Given the description of an element on the screen output the (x, y) to click on. 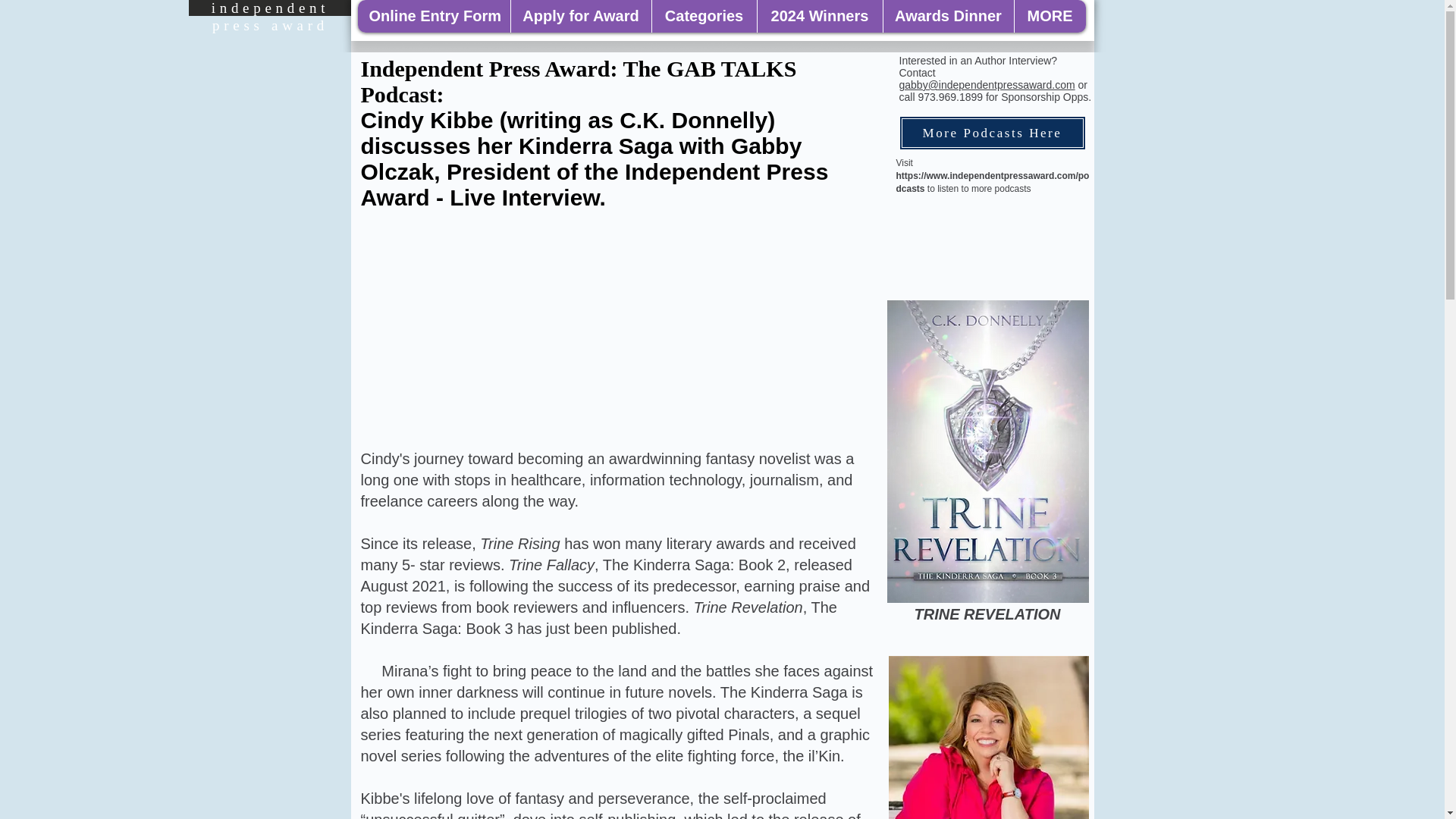
independent press award (270, 16)
2024 Winners (819, 16)
Online Entry Form (434, 16)
Awards Dinner (947, 16)
Categories (702, 16)
